Given the description of an element on the screen output the (x, y) to click on. 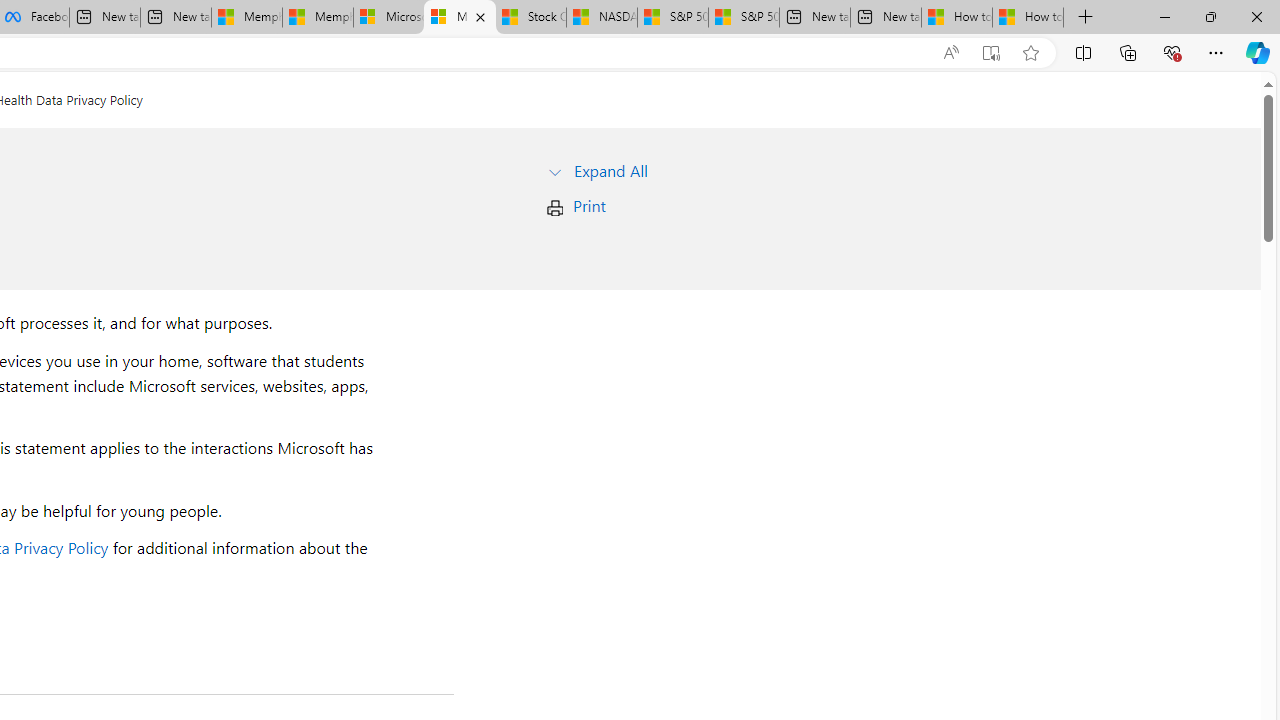
Print (589, 205)
